Given the description of an element on the screen output the (x, y) to click on. 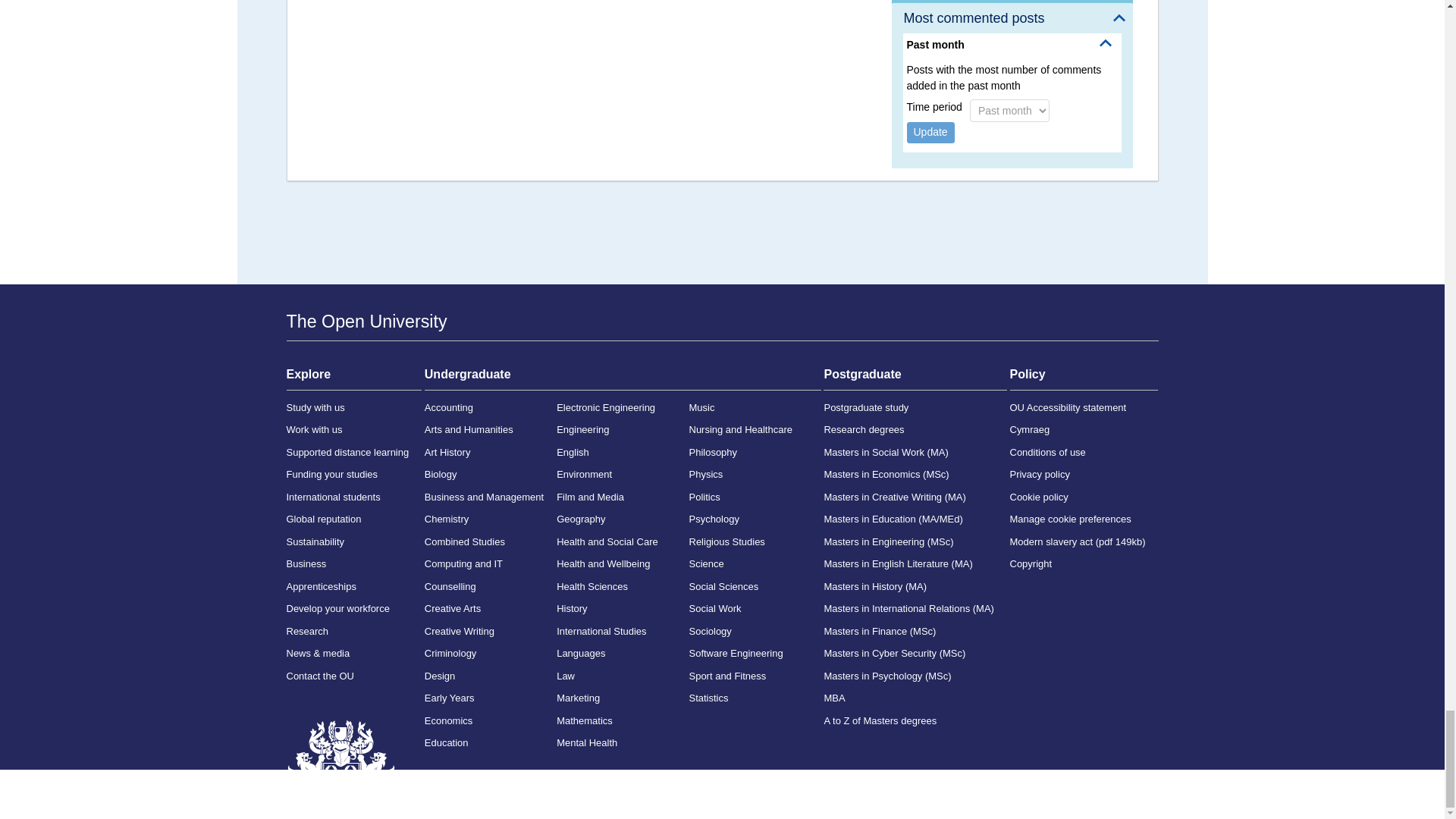
Update (931, 132)
Hide options (1105, 42)
Blog usage (1011, 2)
